Given the description of an element on the screen output the (x, y) to click on. 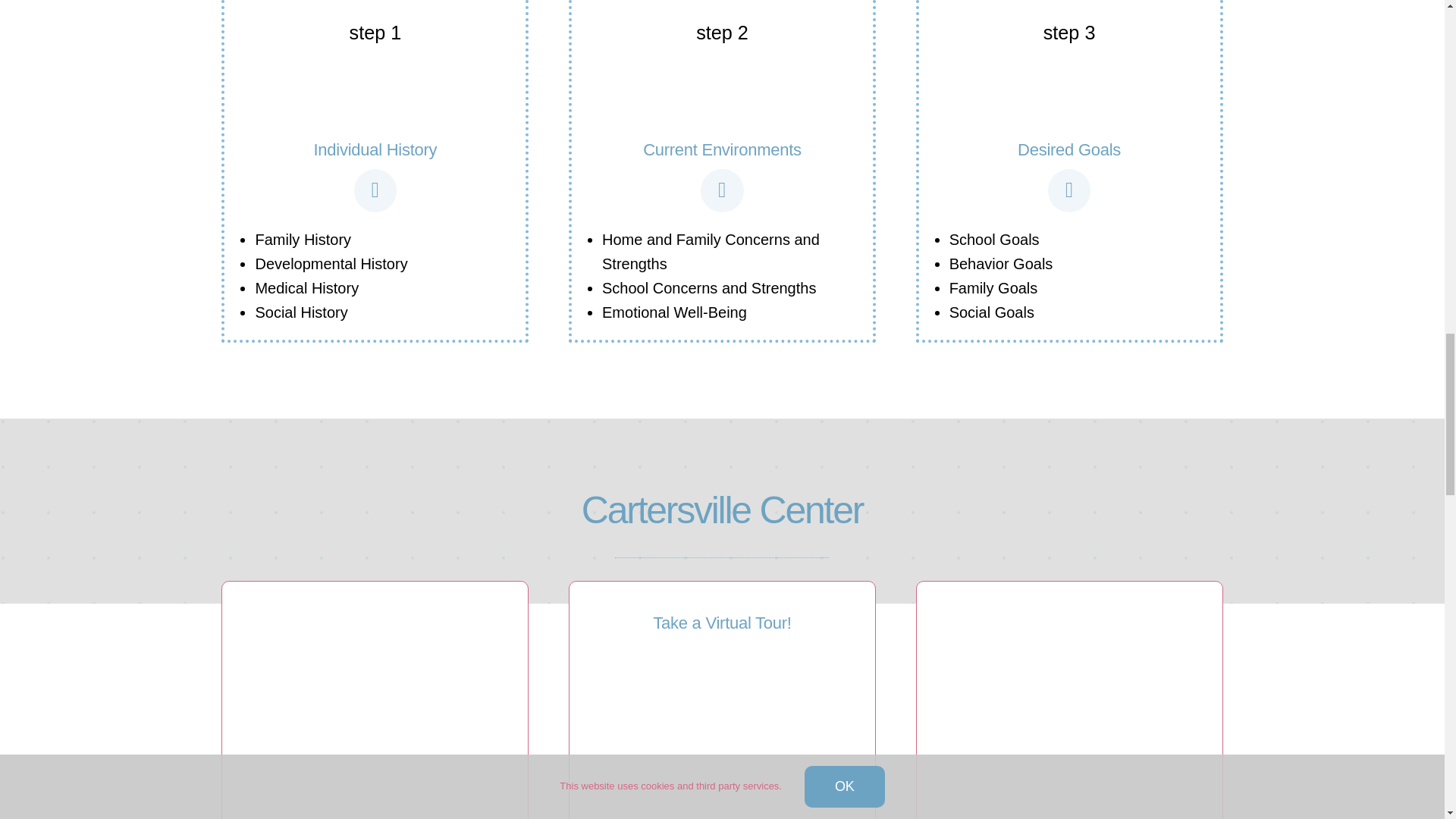
Toddler,Learning,The,Alphabet,With,A,Language,Therapist,In,A (1070, 703)
